Given the description of an element on the screen output the (x, y) to click on. 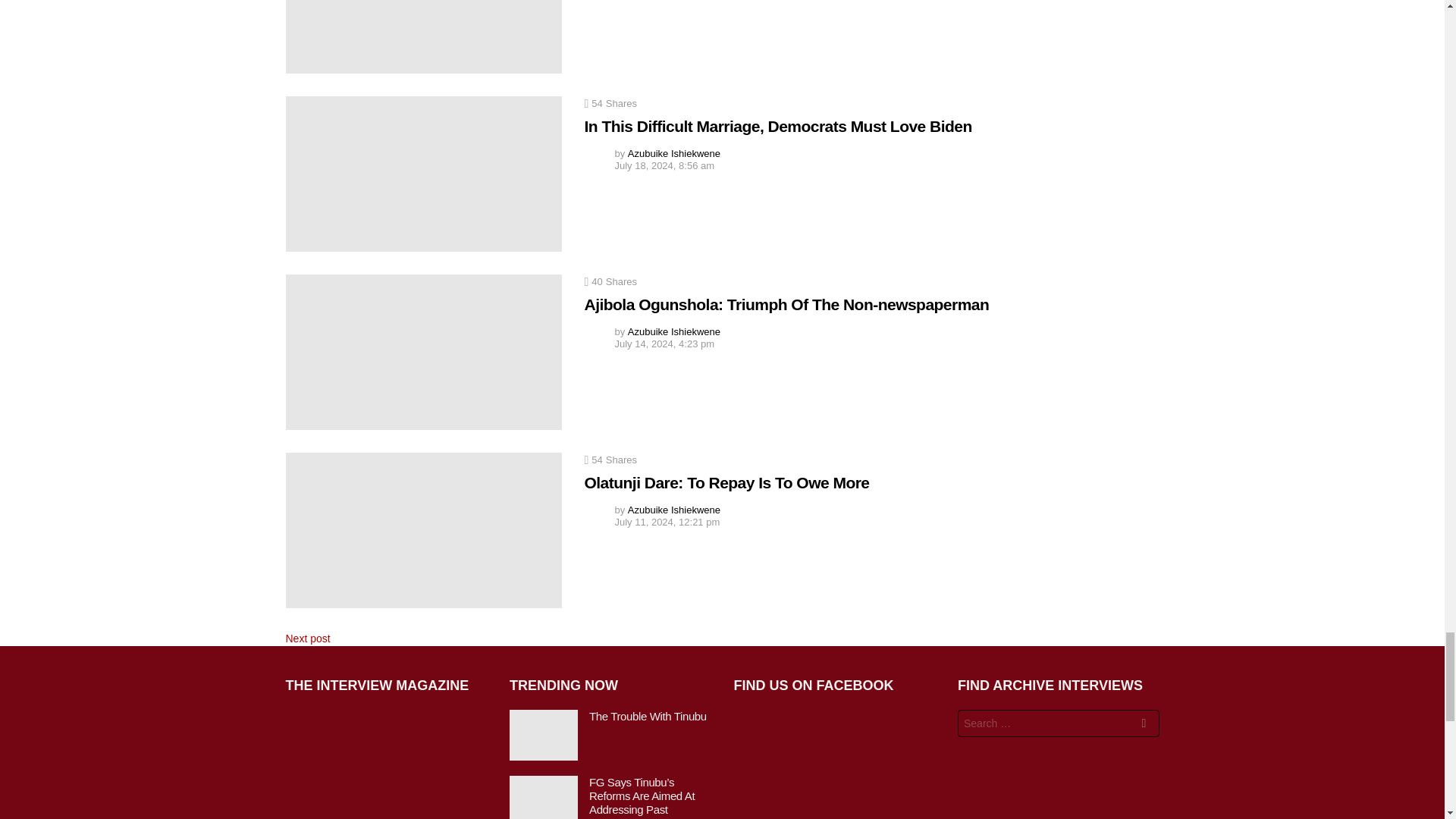
Posts by Azubuike Ishiekwene (673, 153)
NNPC v Dangote: Where The Truth Lies (422, 36)
In This Difficult Marriage, Democrats Must Love Biden (422, 173)
